Given the description of an element on the screen output the (x, y) to click on. 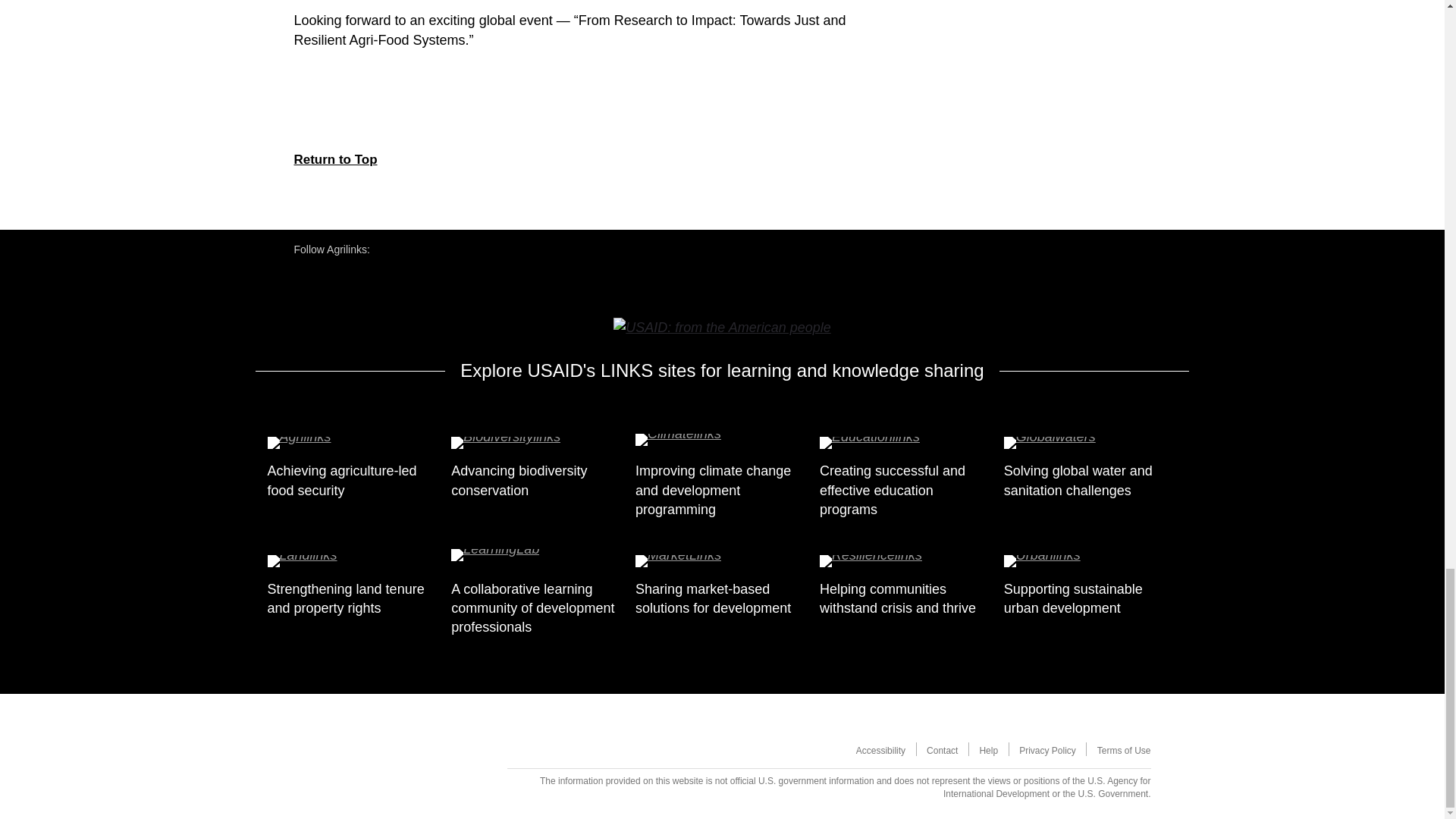
Facebook (413, 249)
LinkedIn (458, 249)
Go to Educationlinks (905, 443)
Go to USAID (720, 326)
Go to Biodiversitylinks (537, 443)
Go to Agrilinks (353, 443)
Go to Landlinks (353, 562)
Youtube (389, 249)
Go to Globalwaters (1090, 443)
Go to Climatelinks (721, 443)
